Given the description of an element on the screen output the (x, y) to click on. 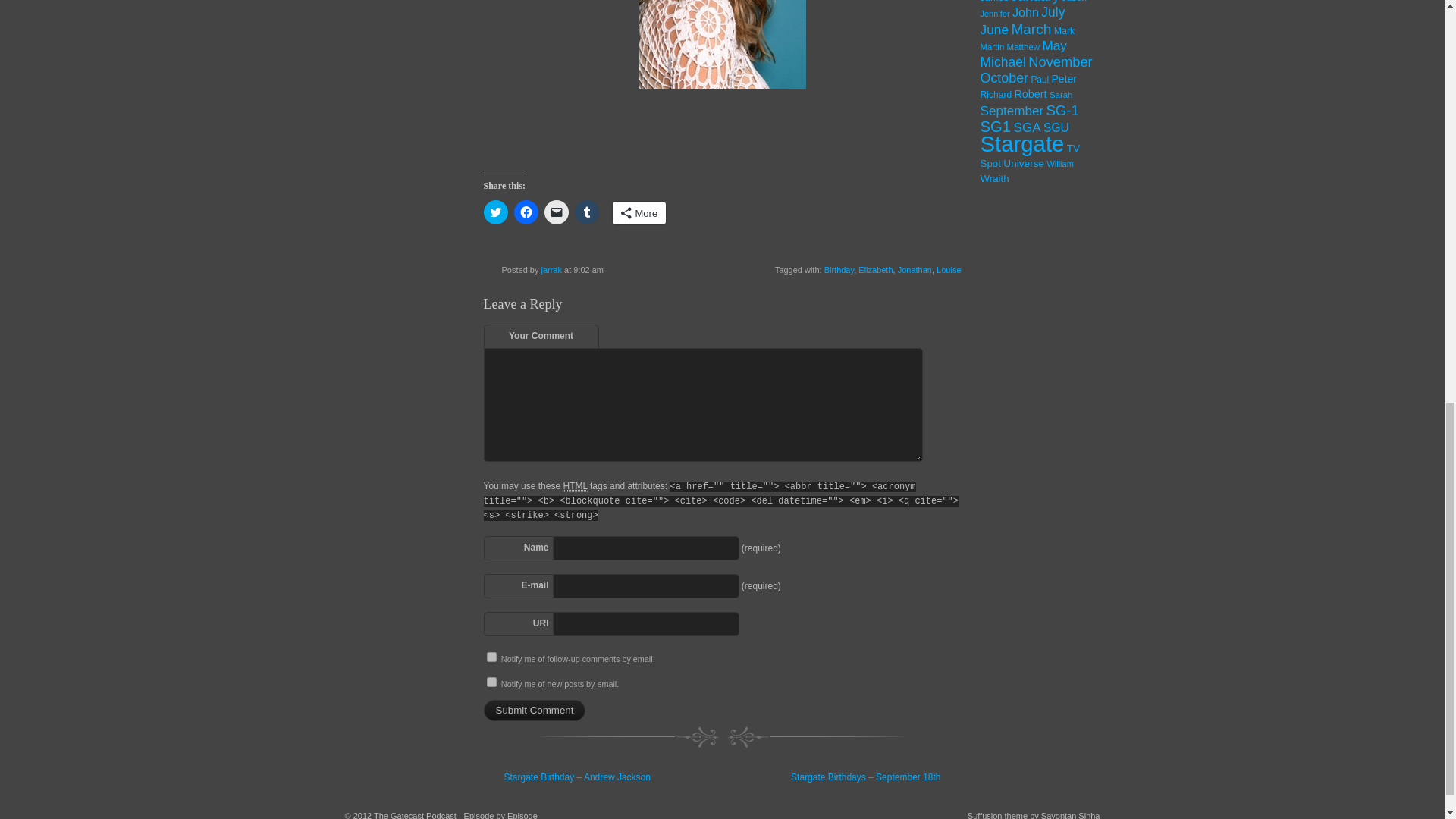
HyperText Markup Language (574, 486)
subscribe (491, 682)
Click to share on Facebook (525, 211)
jarrak (551, 269)
Louise (948, 269)
Jonathan (914, 269)
Elizabeth (875, 269)
Submit Comment (534, 710)
Submit Comment (534, 710)
Click to email a link to a friend (556, 211)
